Given the description of an element on the screen output the (x, y) to click on. 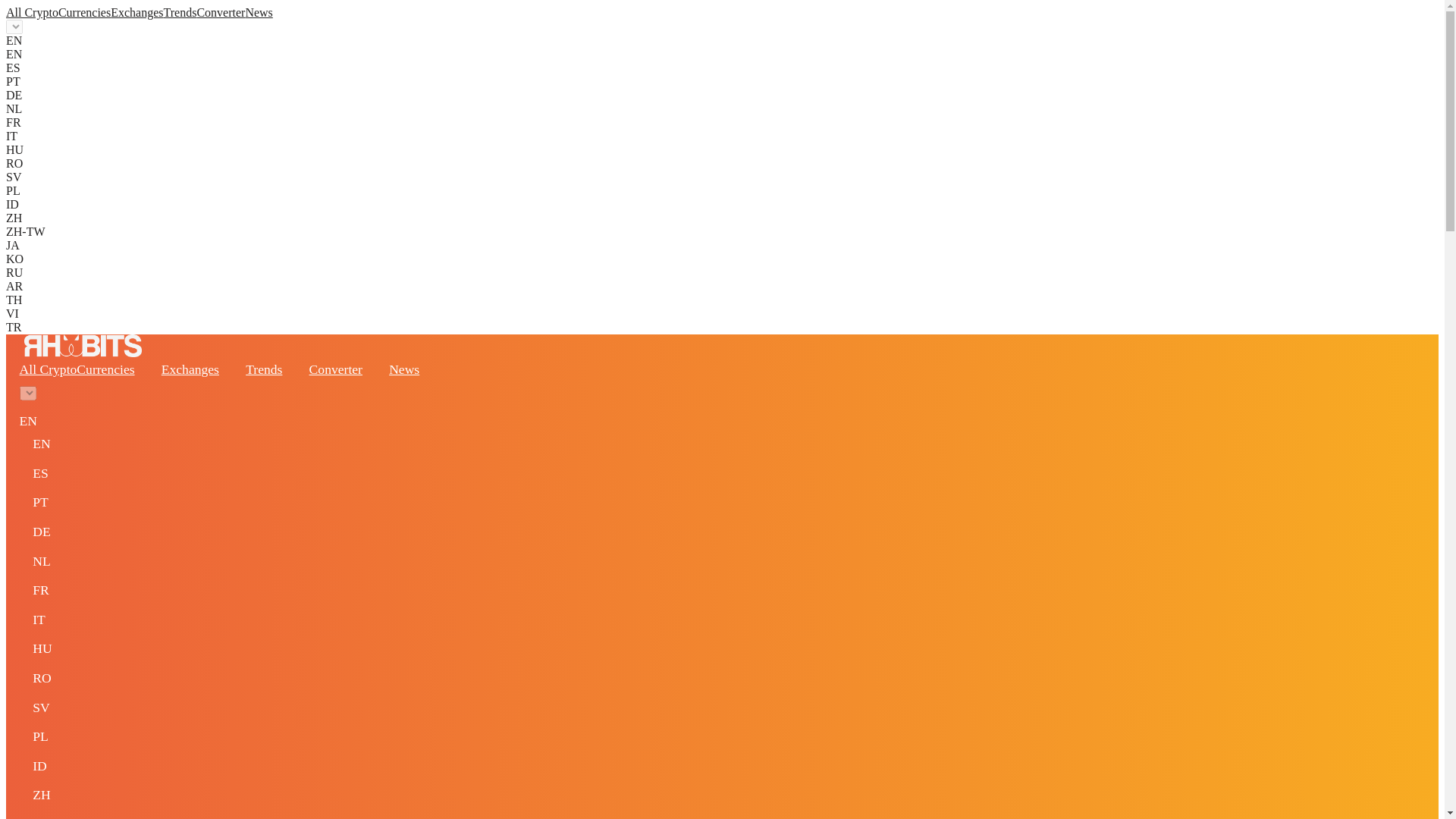
All CryptoCurrencies (76, 369)
Exchanges (189, 369)
Converter (335, 369)
Trends (179, 11)
News (258, 11)
All CryptoCurrencies (57, 11)
Trends (263, 369)
News (403, 369)
Converter (220, 11)
Exchanges (136, 11)
